Given the description of an element on the screen output the (x, y) to click on. 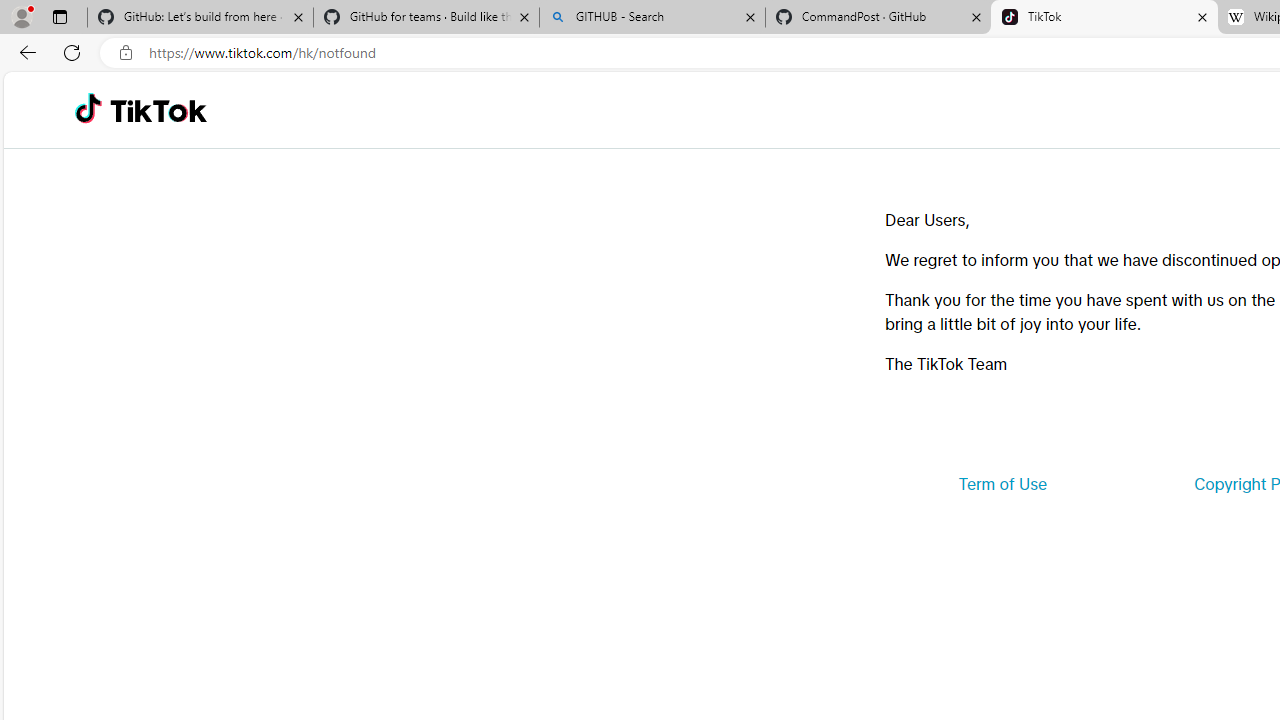
GITHUB - Search (652, 17)
Term of Use (1002, 484)
